Given the description of an element on the screen output the (x, y) to click on. 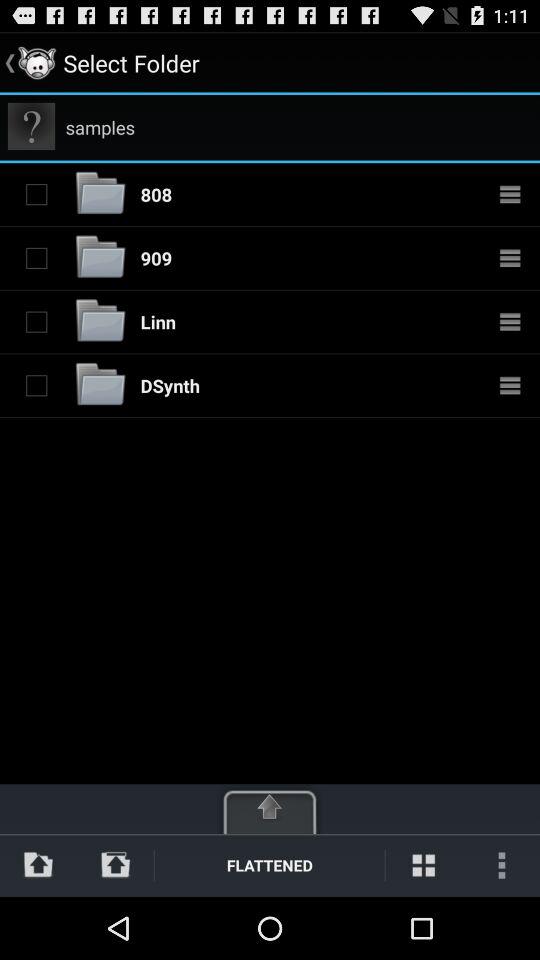
select item above the dsynth app (157, 321)
